Given the description of an element on the screen output the (x, y) to click on. 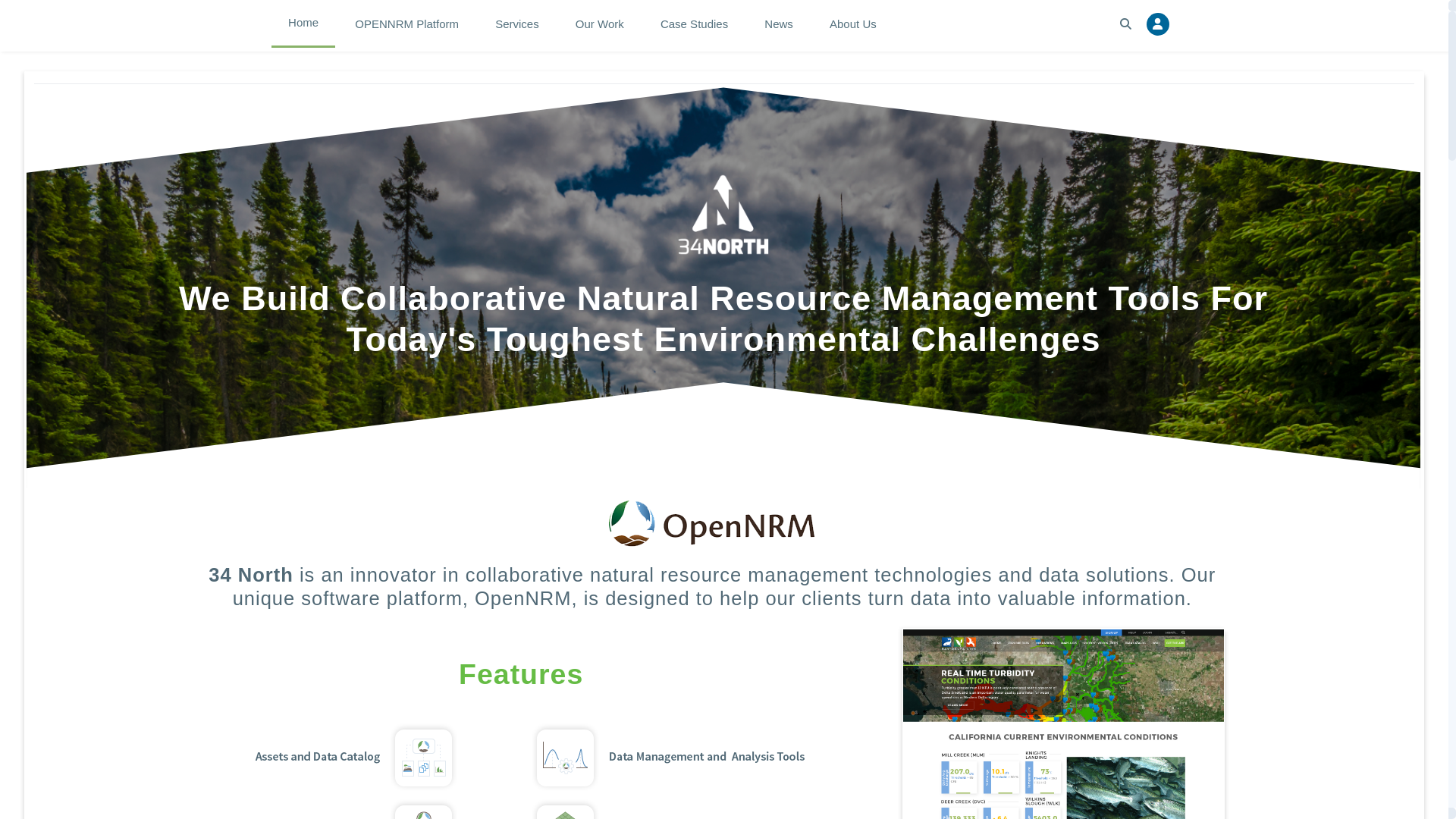
Asset and Data Management Element type: hover (321, 757)
Our Work Element type: text (599, 24)
News Element type: text (778, 24)
Home Element type: text (303, 22)
Services Element type: text (516, 24)
OPENNRM Platform Element type: text (406, 24)
Data Management and Analysis Tools Element type: hover (669, 757)
34 North Element type: hover (723, 214)
Case Studies Element type: text (693, 24)
About Us Element type: text (852, 24)
